Given the description of an element on the screen output the (x, y) to click on. 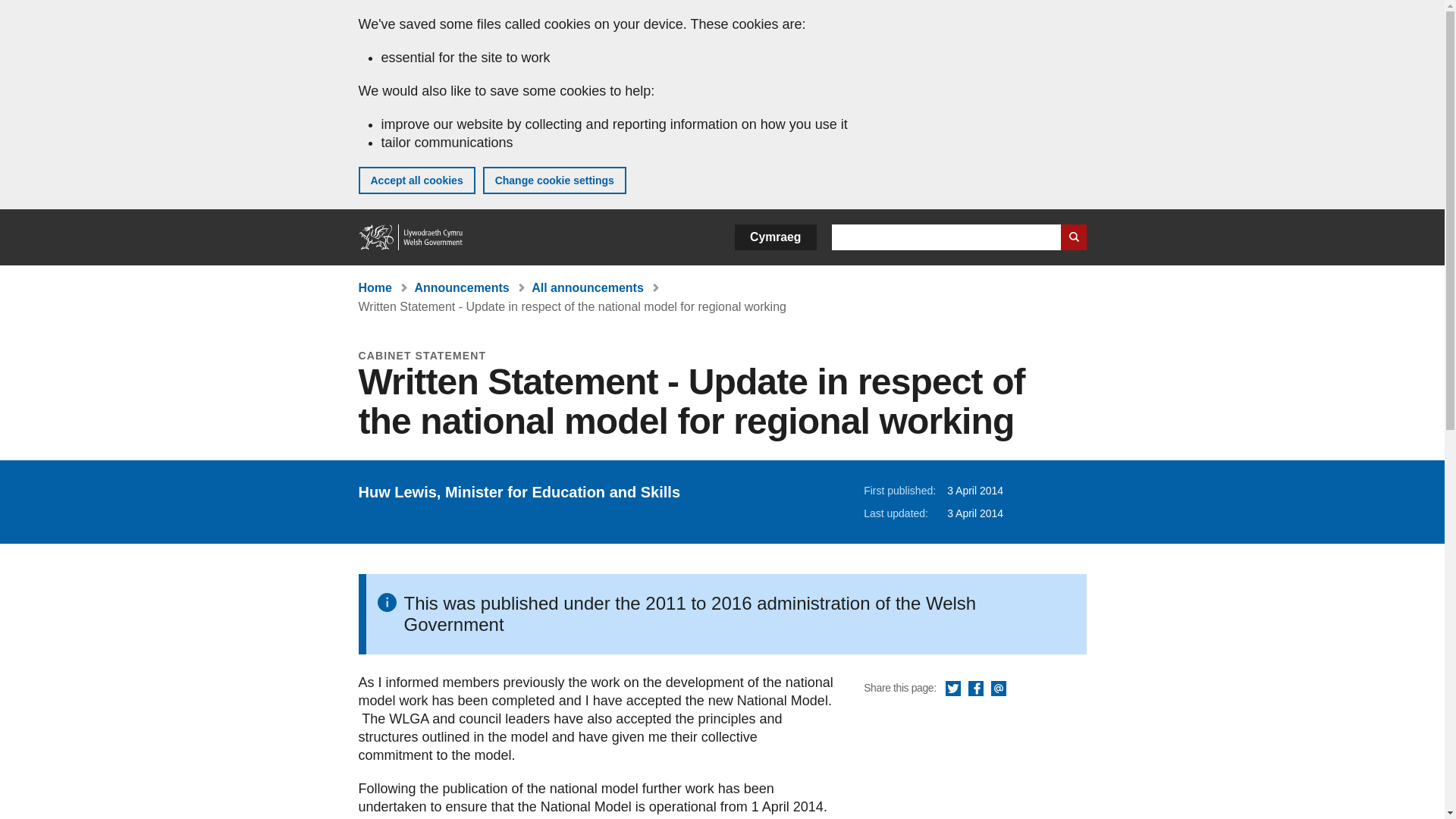
Home (411, 237)
Search website (1072, 237)
Facebook (976, 688)
Email (998, 688)
All announcements (587, 287)
Accept all cookies (416, 180)
Twitter (952, 688)
Skip to main content (22, 11)
Change cookie settings (554, 180)
Home (374, 287)
